Given the description of an element on the screen output the (x, y) to click on. 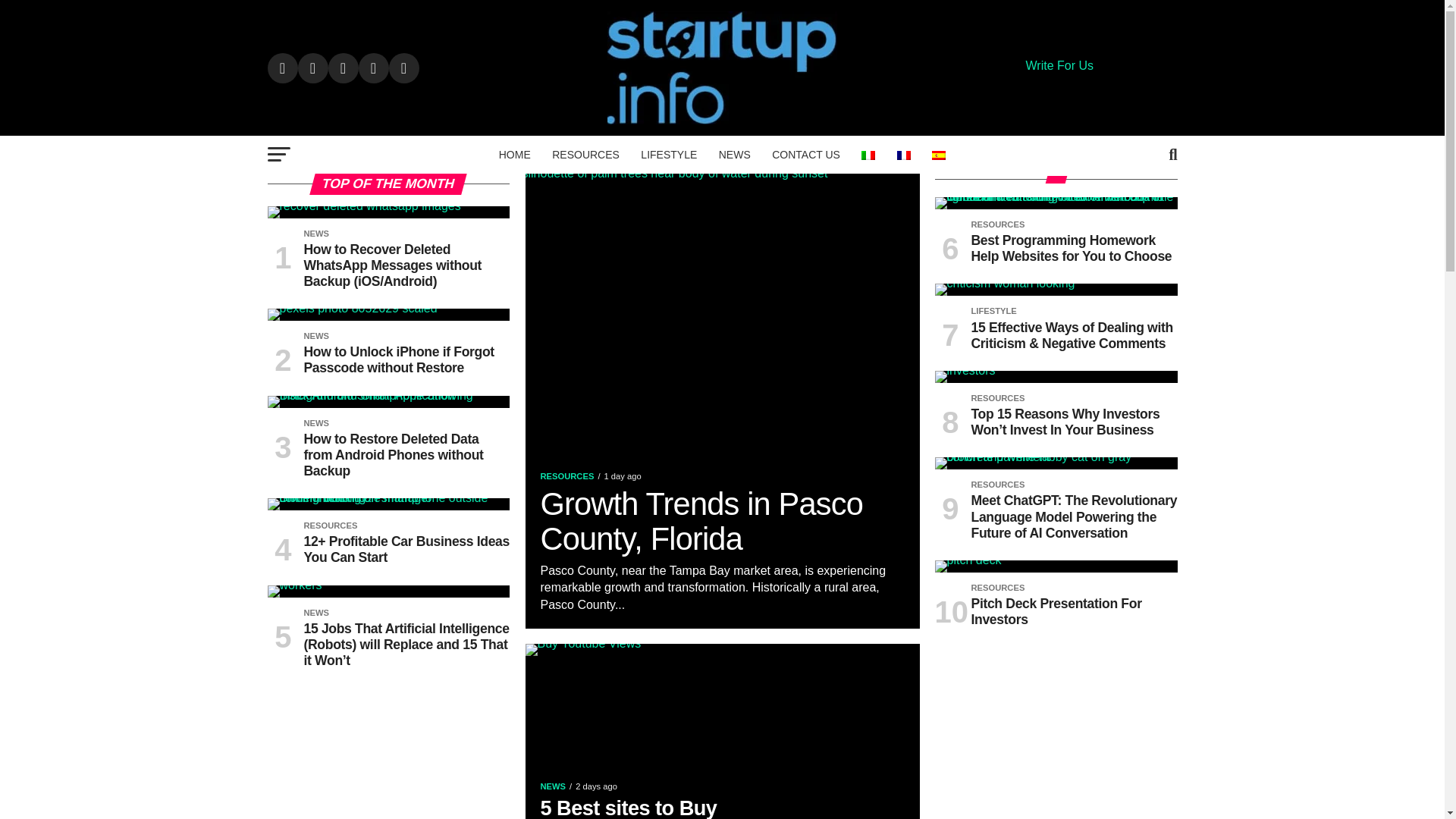
NEWS (735, 154)
HOME (514, 154)
LIFESTYLE (668, 154)
Write For Us (1059, 65)
RESOURCES (585, 154)
